Given the description of an element on the screen output the (x, y) to click on. 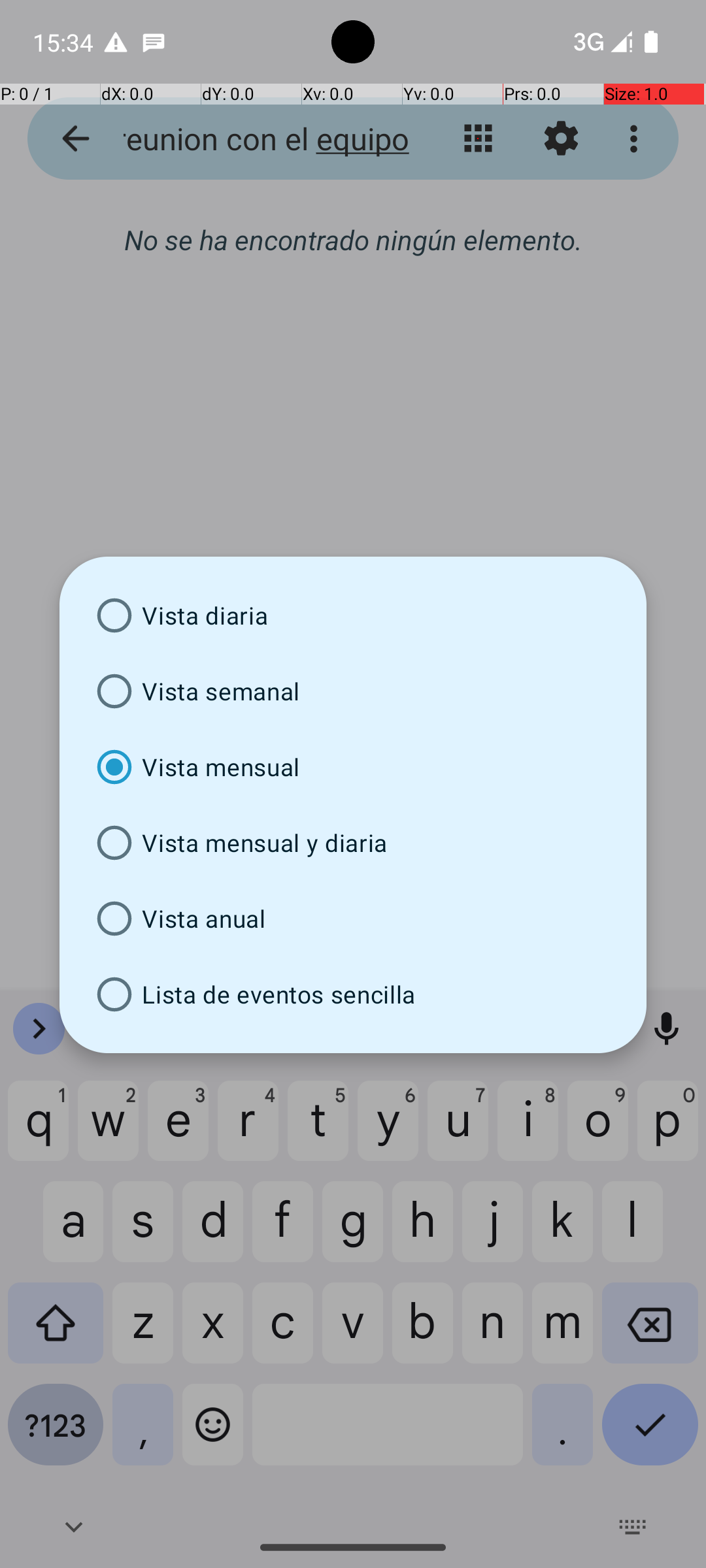
Vista diaria Element type: android.widget.RadioButton (352, 615)
Vista semanal Element type: android.widget.RadioButton (352, 691)
Vista mensual Element type: android.widget.RadioButton (352, 766)
Vista mensual y diaria Element type: android.widget.RadioButton (352, 842)
Vista anual Element type: android.widget.RadioButton (352, 918)
Lista de eventos sencilla Element type: android.widget.RadioButton (352, 994)
